Given the description of an element on the screen output the (x, y) to click on. 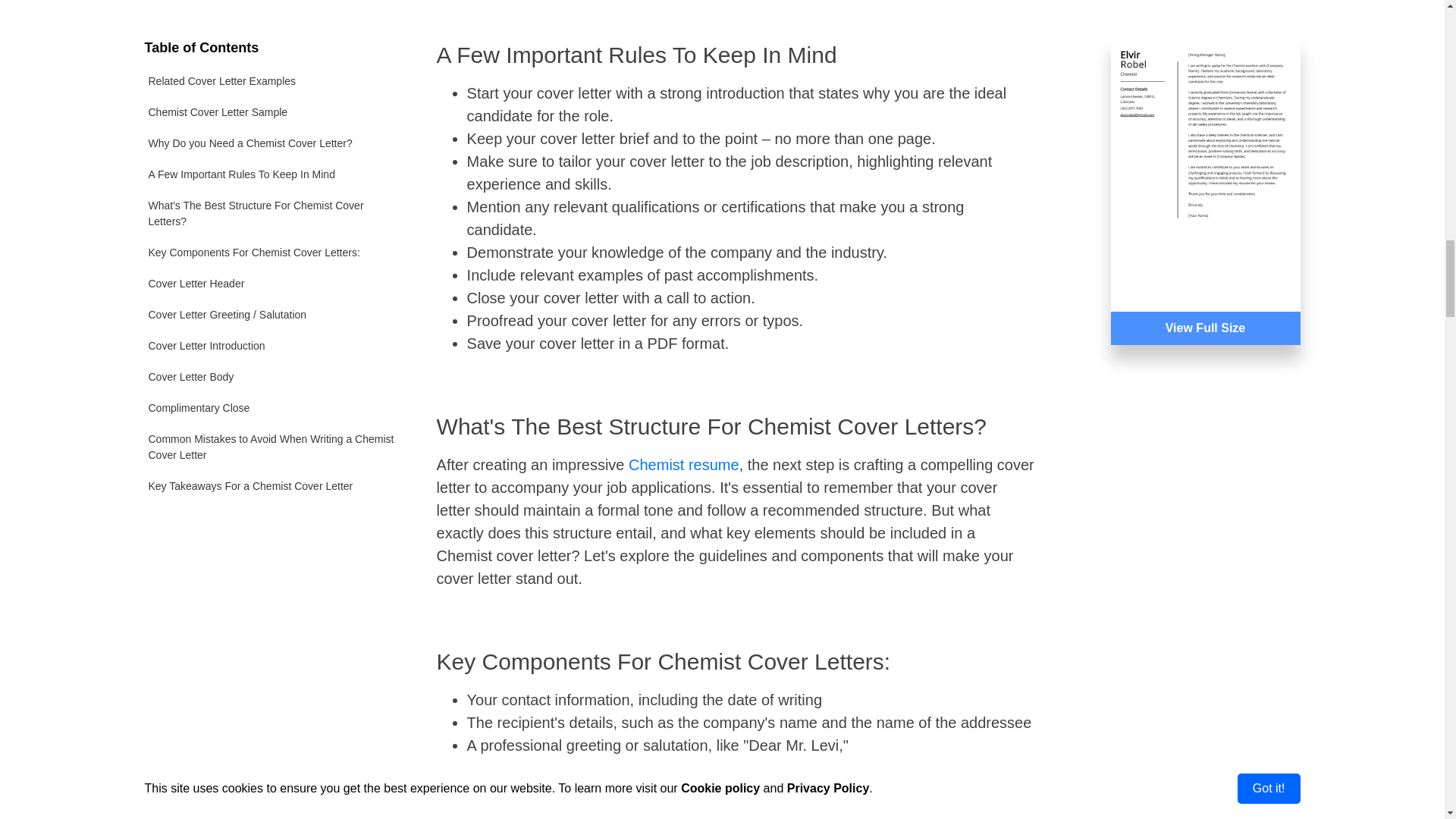
Chemist resume (683, 464)
